Given the description of an element on the screen output the (x, y) to click on. 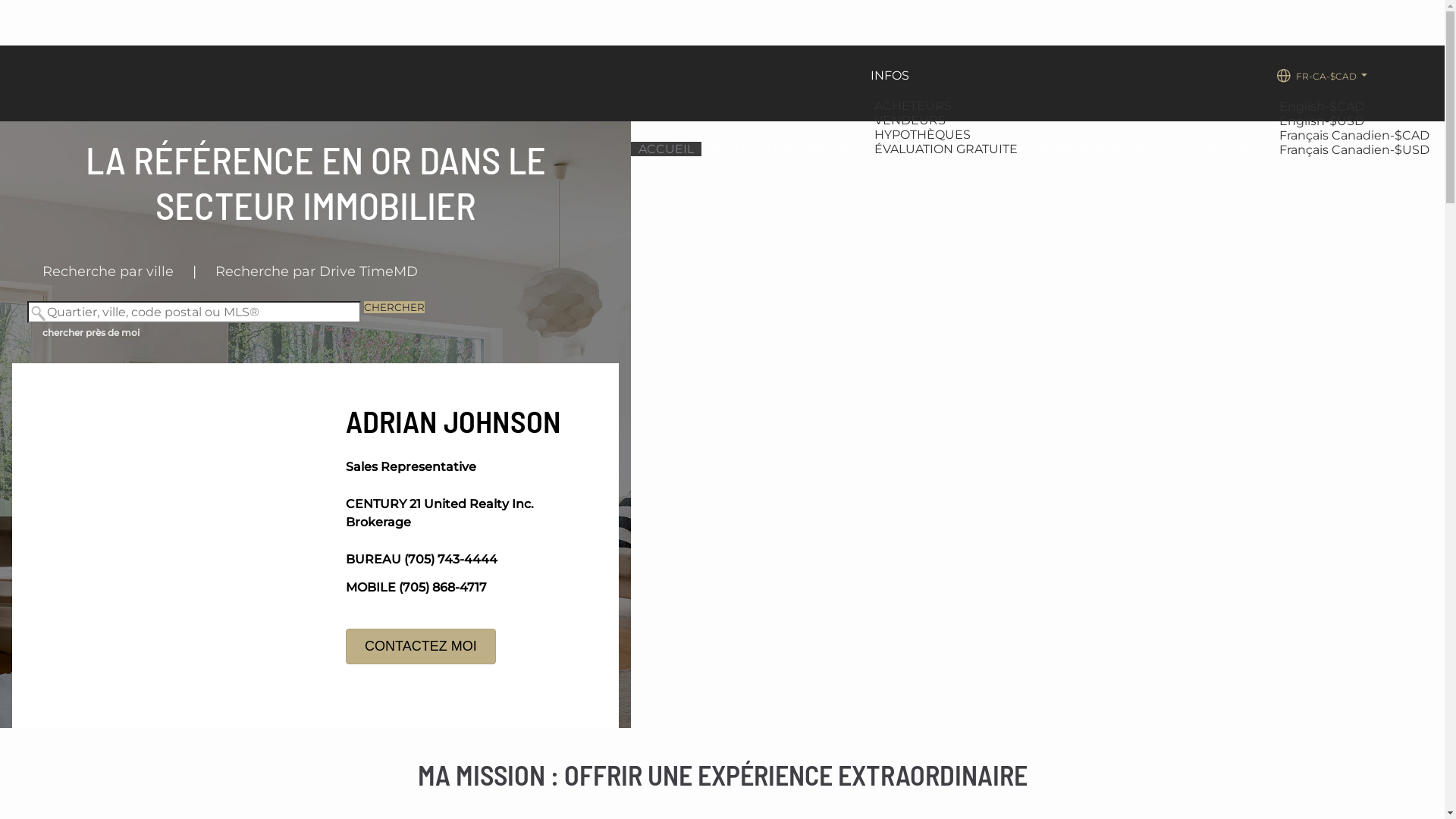
(705) 868-4717 Element type: text (442, 587)
ACHETEURS Element type: text (914, 105)
FR-CA-$CAD Element type: text (1320, 75)
CONTACTEZ MOI Element type: text (420, 646)
INFOS Element type: text (889, 75)
English-$CAD Element type: text (1323, 106)
English-$USD Element type: text (1323, 120)
Chercher Element type: text (394, 307)
TROUVER UNE MAISON Element type: text (781, 148)
TESTIMONIALS Element type: text (1214, 148)
(705) 743-4444 Element type: text (450, 559)
VENDEURS Element type: text (911, 119)
ACCUEIL Element type: text (665, 148)
